Given the description of an element on the screen output the (x, y) to click on. 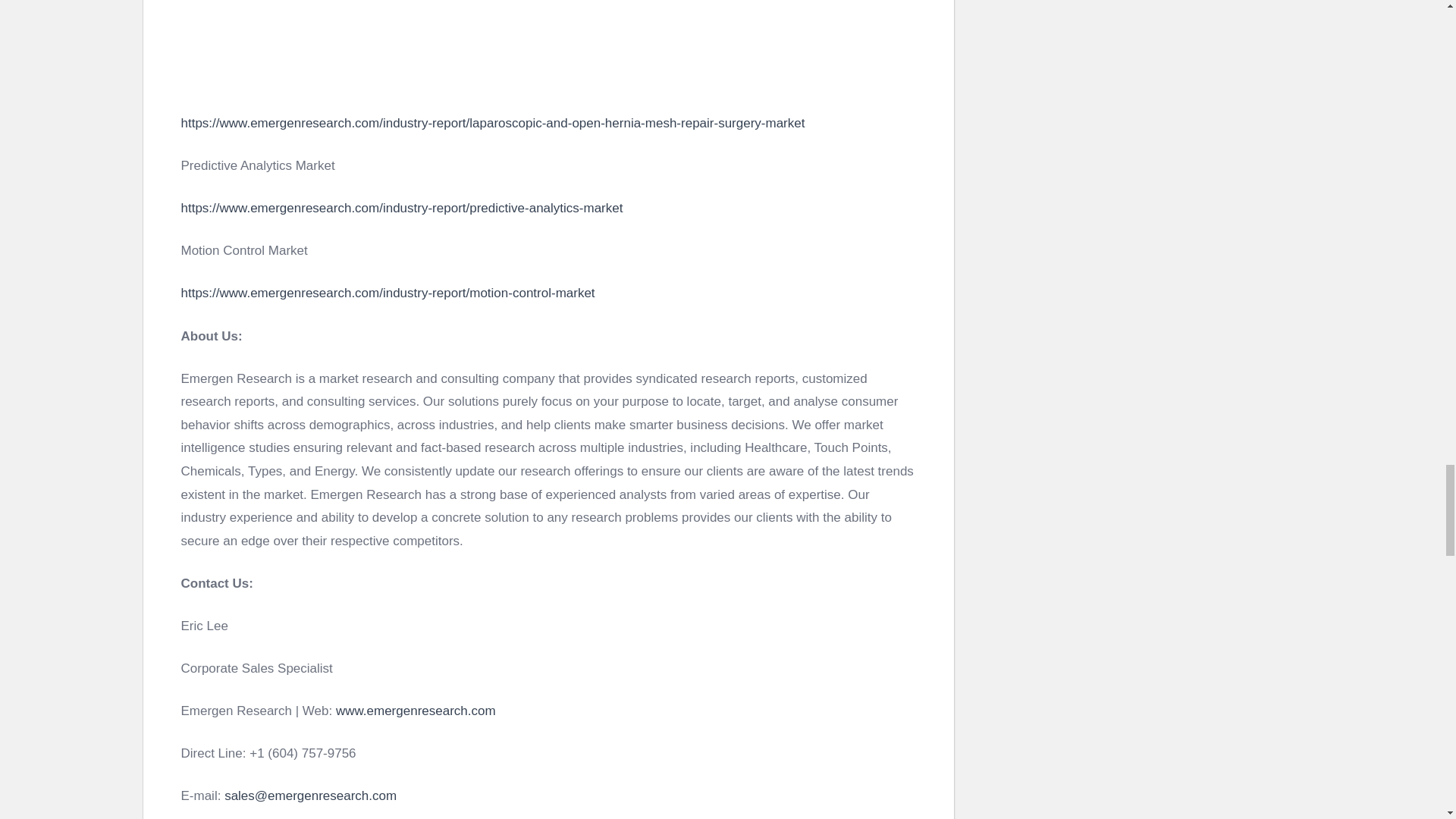
www.emergenresearch.com (416, 710)
